Given the description of an element on the screen output the (x, y) to click on. 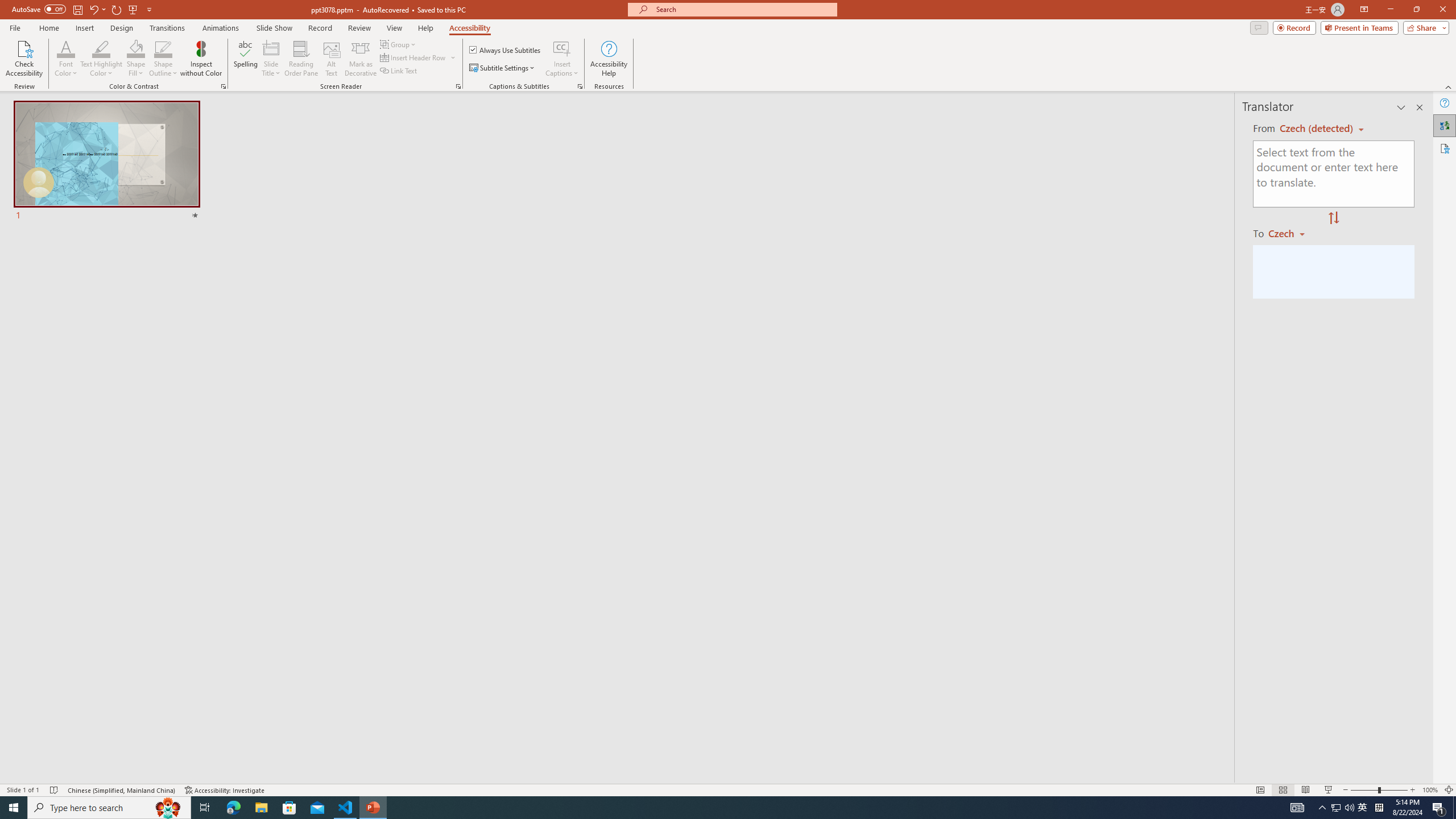
Color & Contrast (223, 85)
Accessibility Help (608, 58)
Czech (1291, 232)
Link Text (399, 69)
